Given the description of an element on the screen output the (x, y) to click on. 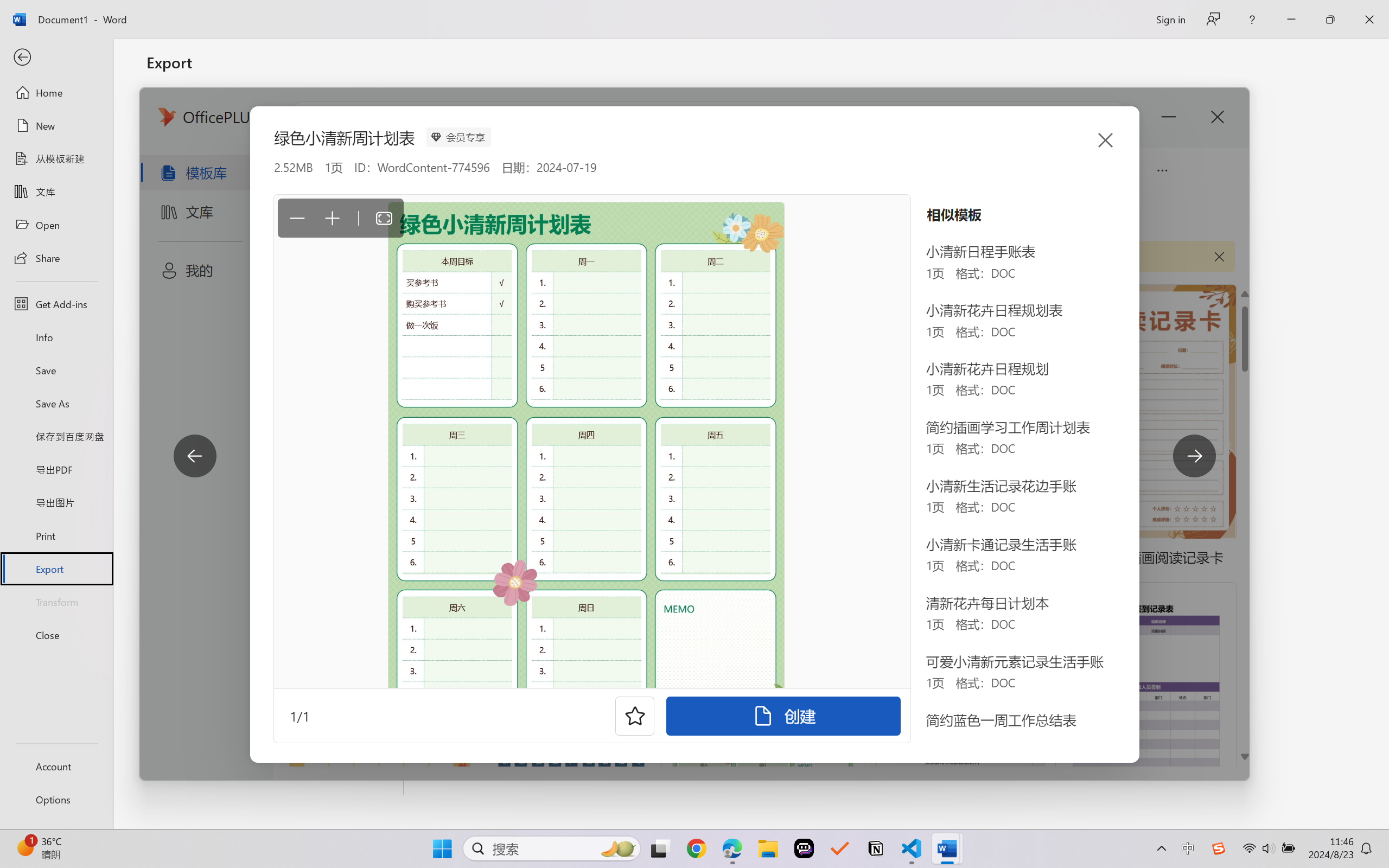
Create PDF/XPS Document (275, 110)
Transform (56, 601)
Account (56, 765)
Publishing Features (275, 449)
Get Add-ins (56, 303)
